Given the description of an element on the screen output the (x, y) to click on. 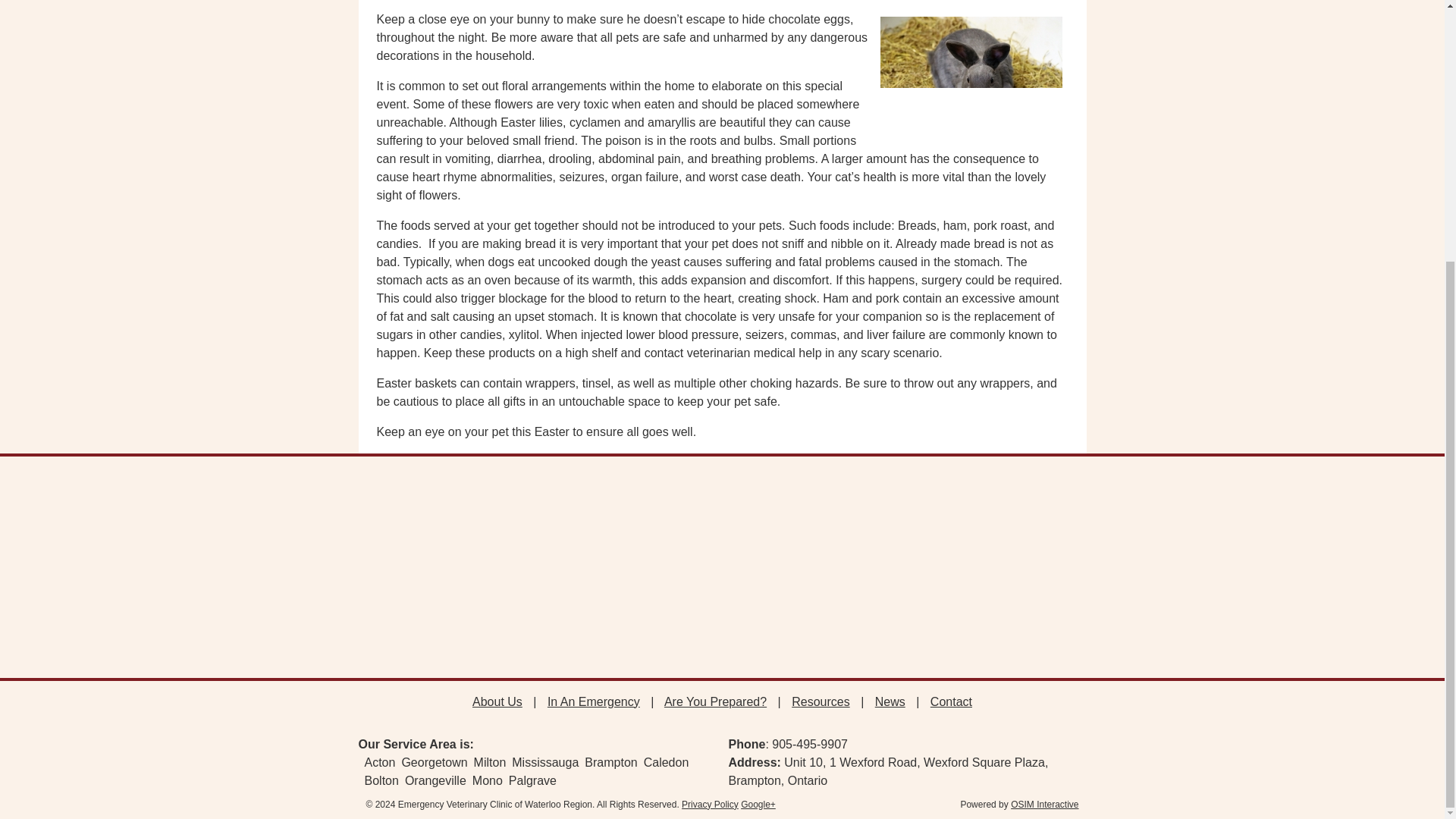
About Us (496, 701)
OSIM Interactive (1044, 804)
Contact (951, 701)
News (890, 701)
Are You Prepared? (715, 701)
Privacy Policy (709, 804)
Resources (820, 701)
In An Emergency (593, 701)
